Given the description of an element on the screen output the (x, y) to click on. 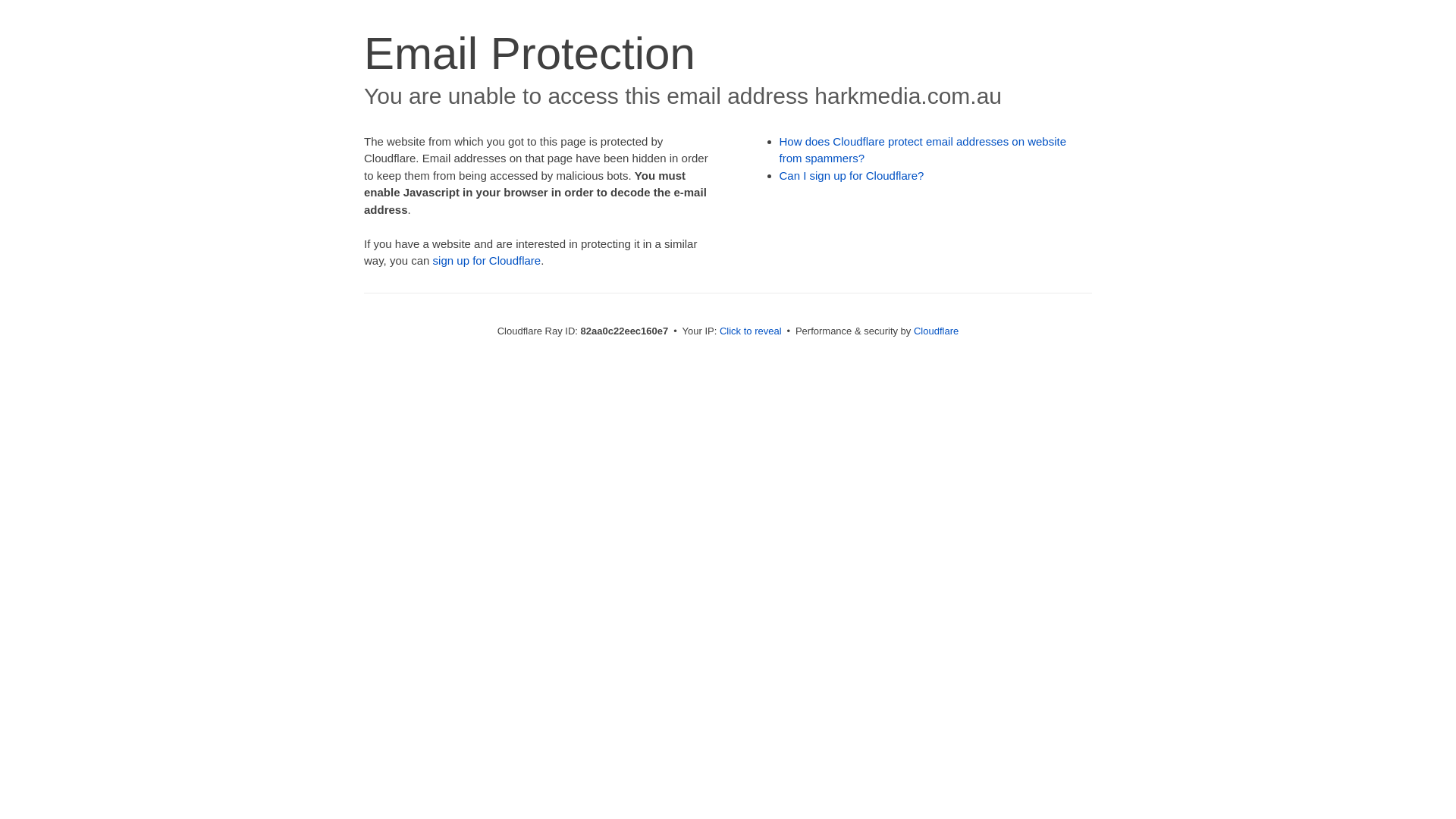
Can I sign up for Cloudflare? Element type: text (851, 175)
Click to reveal Element type: text (750, 330)
sign up for Cloudflare Element type: text (487, 260)
Cloudflare Element type: text (935, 330)
